Given the description of an element on the screen output the (x, y) to click on. 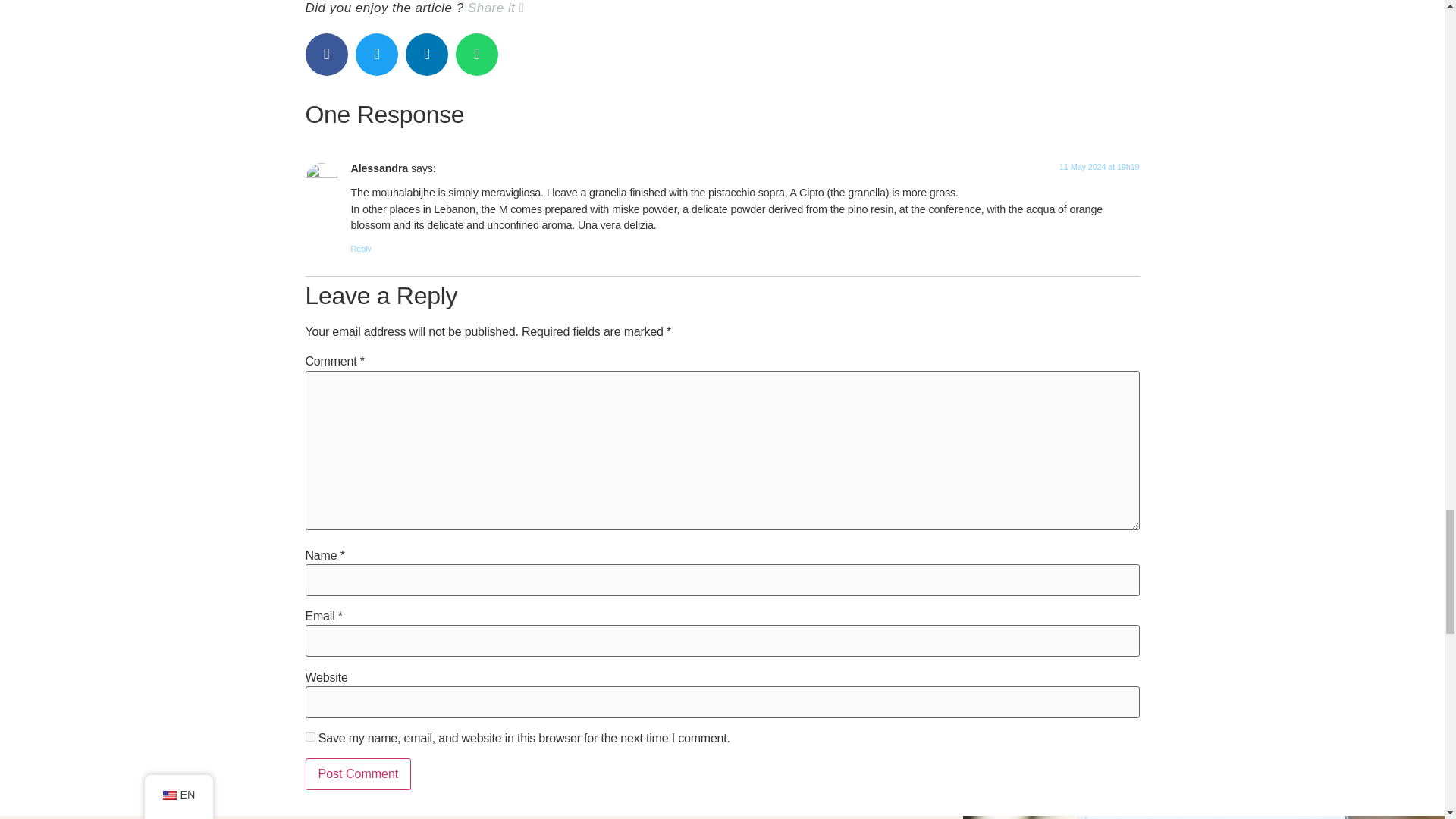
yes (309, 737)
11 May 2024 at 19h19 (1098, 166)
Post Comment (357, 774)
